Given the description of an element on the screen output the (x, y) to click on. 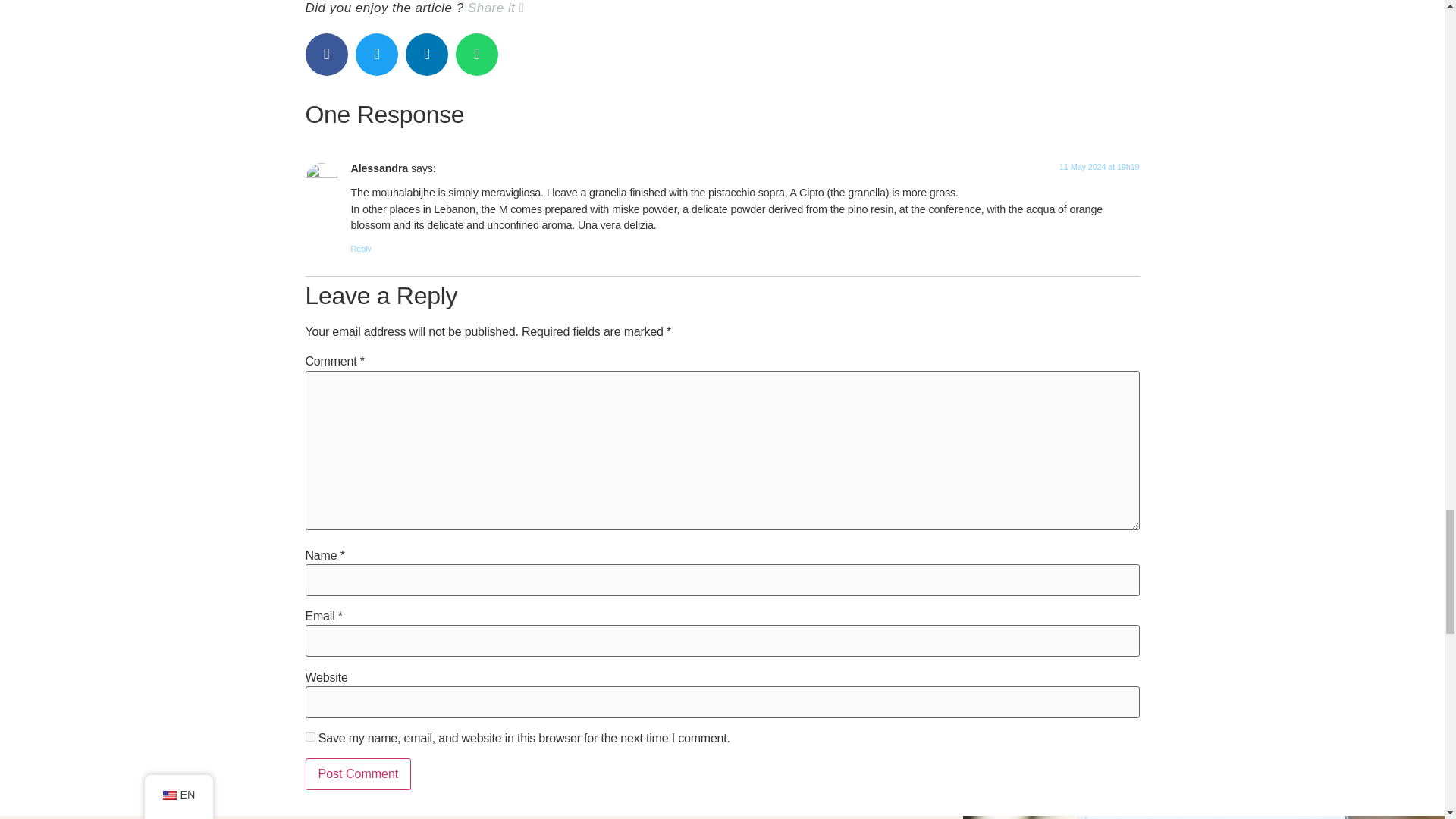
yes (309, 737)
11 May 2024 at 19h19 (1098, 166)
Post Comment (357, 774)
